Given the description of an element on the screen output the (x, y) to click on. 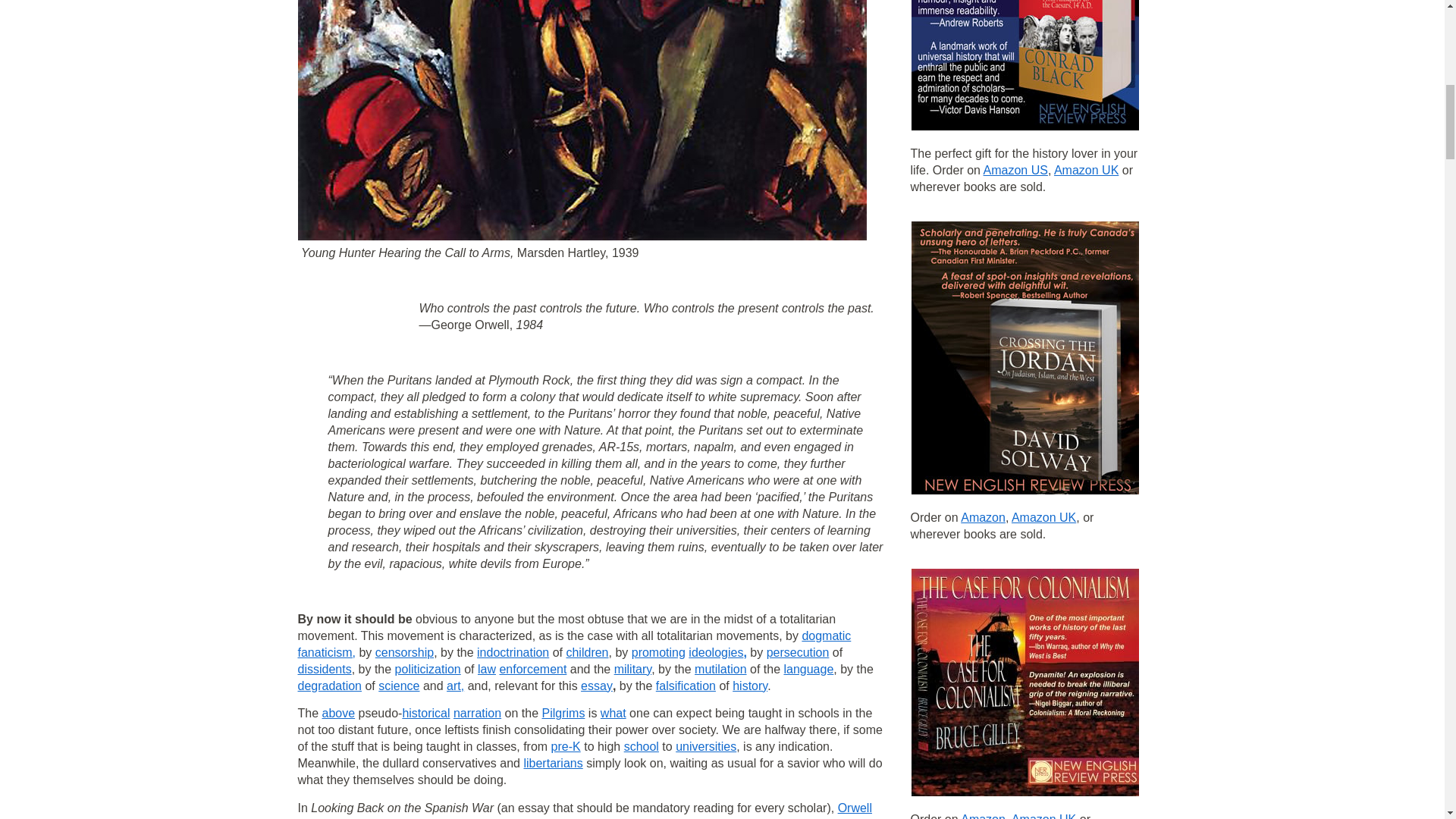
fanaticism, (326, 652)
indoctrination (512, 652)
children (587, 652)
promoting (658, 652)
censorship (404, 652)
ideologies, (717, 652)
dogmatic (826, 635)
